Given the description of an element on the screen output the (x, y) to click on. 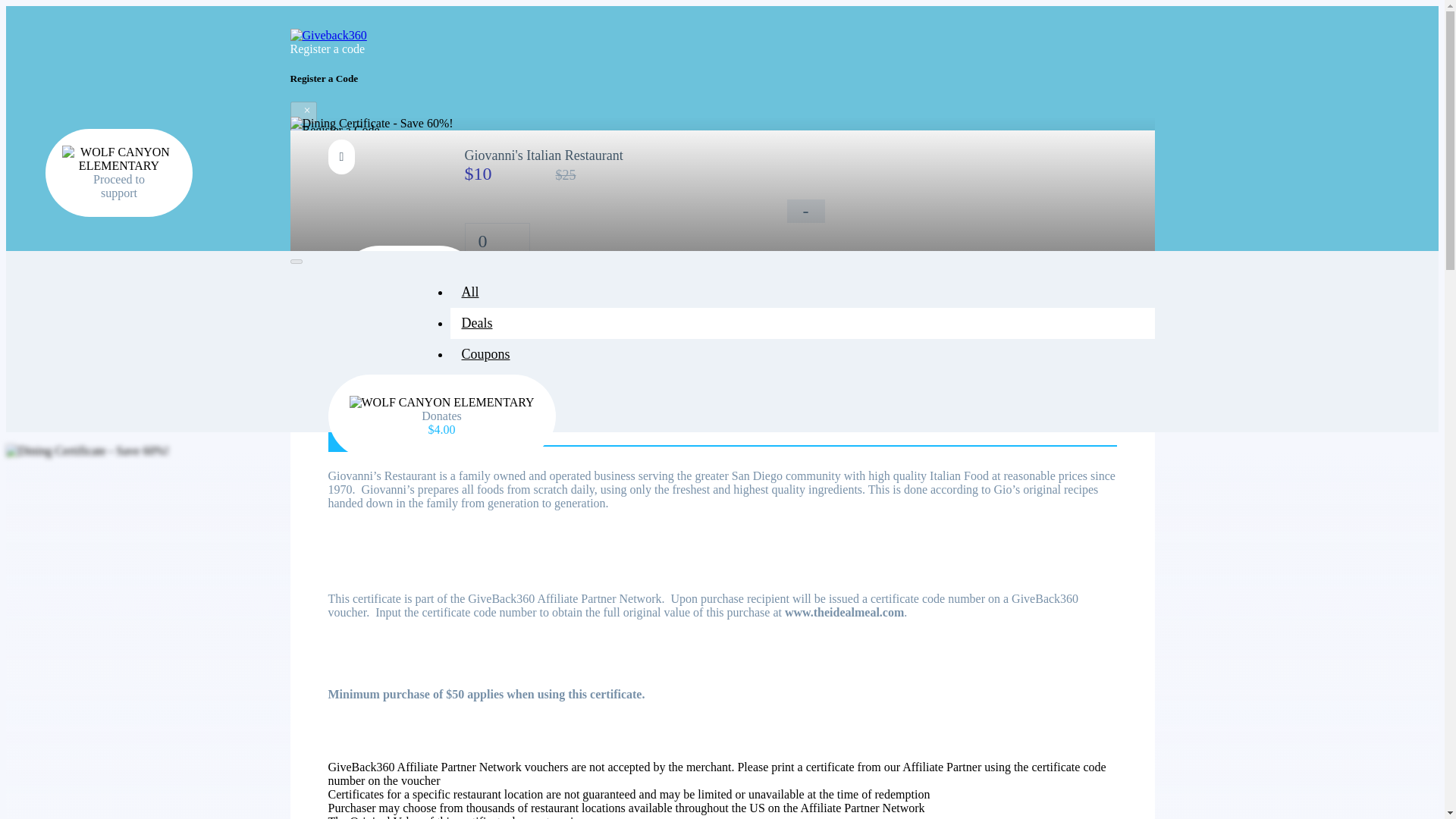
LOGIN (341, 222)
Buy as Guest (449, 315)
Giovanni's Italian Restaurant (408, 275)
WOLF CANYON ELEMENTARY (441, 402)
Home (478, 339)
Cancel (311, 160)
Buy (347, 315)
Gift Cards (489, 416)
WOLF CANYON ELEMENTARY (119, 158)
Register (317, 176)
Events (479, 385)
Register a code (334, 45)
Coupons (485, 353)
Deals (476, 322)
Fine Print (472, 438)
